Given the description of an element on the screen output the (x, y) to click on. 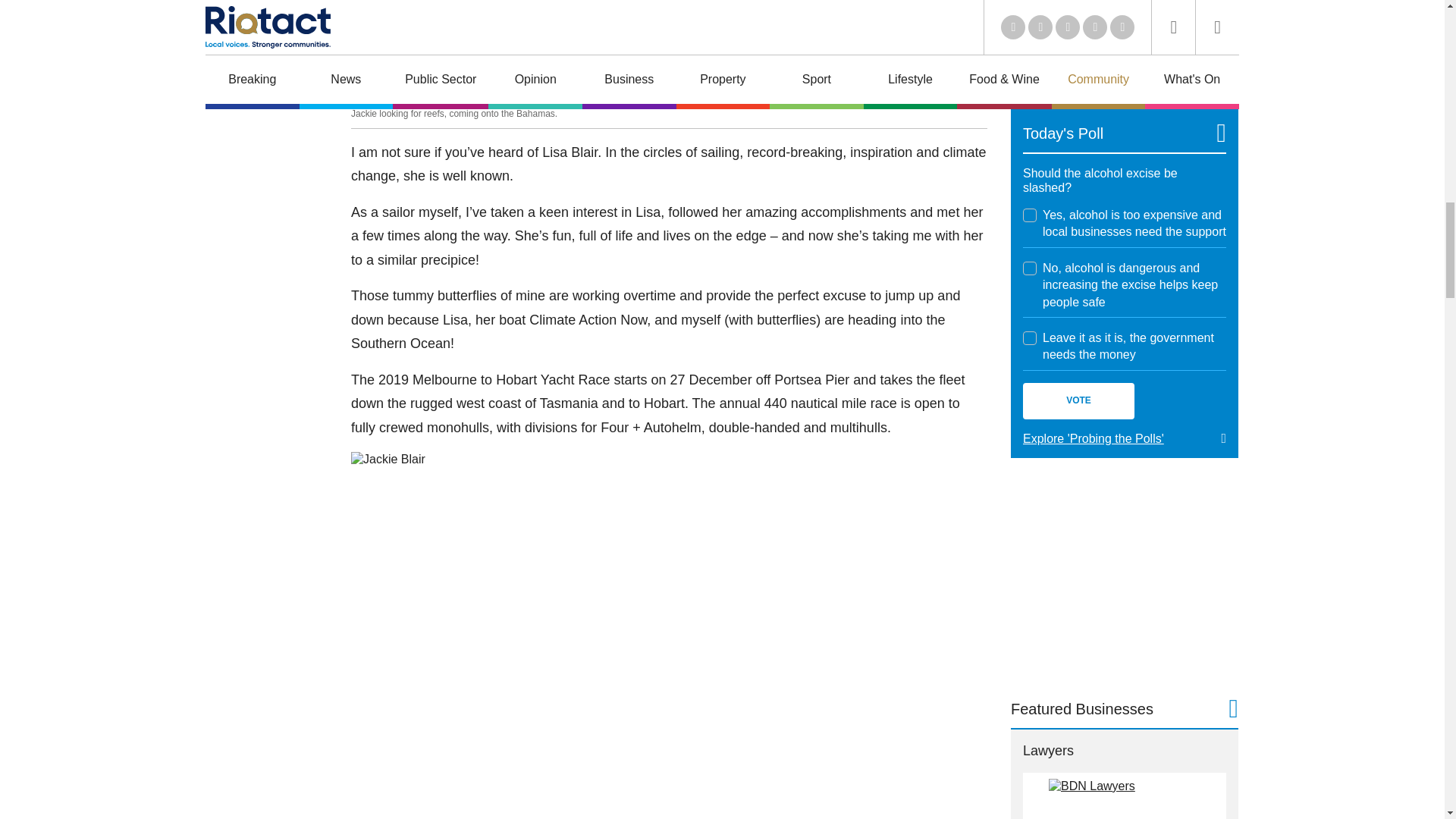
2046 (1029, 214)
2048 (1029, 337)
   Vote    (1078, 401)
Zango Sales (1124, 42)
2047 (1029, 268)
